Given the description of an element on the screen output the (x, y) to click on. 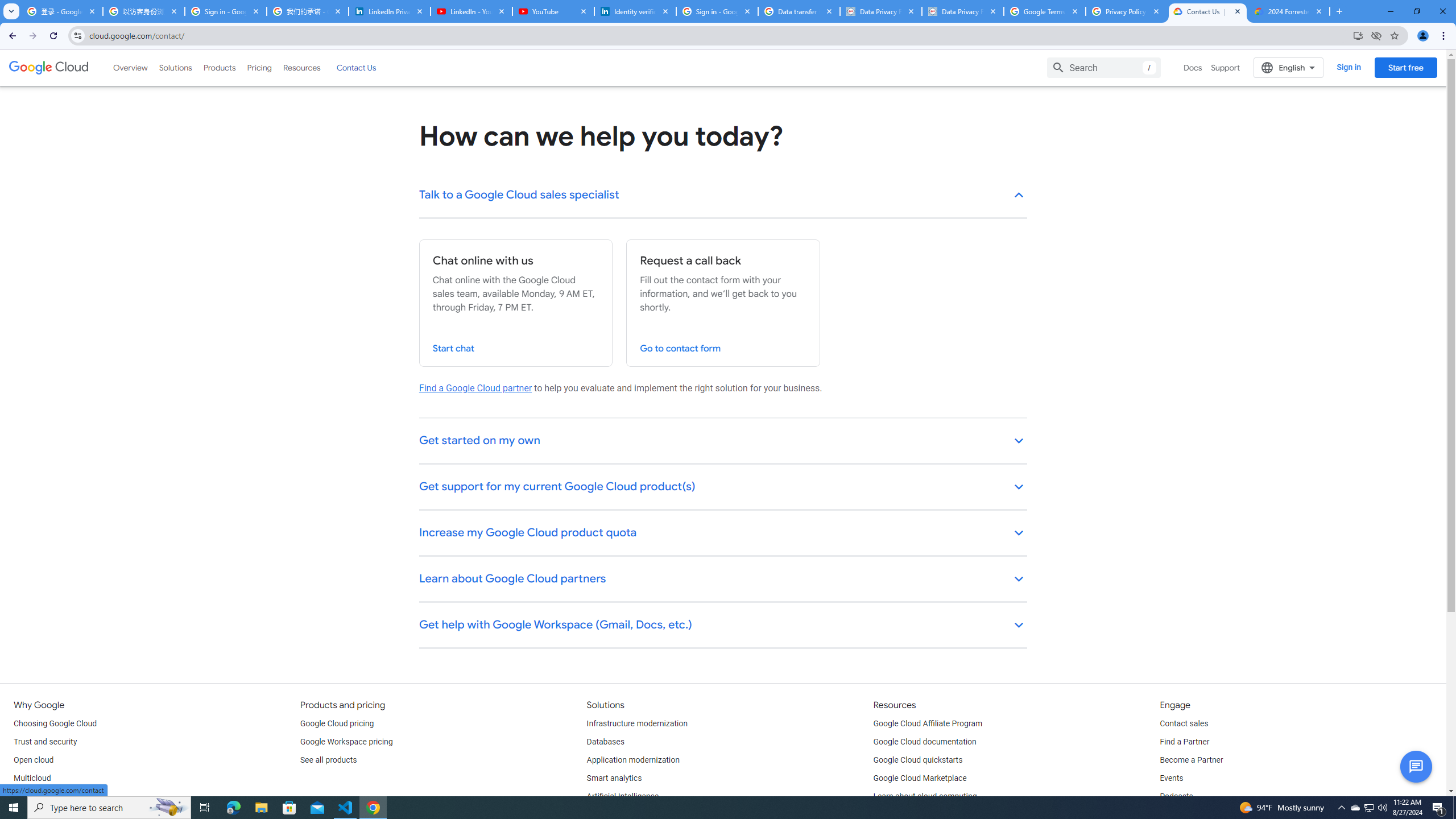
Infrastructure modernization (637, 723)
Trust and security (45, 742)
Start free (1405, 67)
YouTube (552, 11)
Multicloud (31, 778)
Google Cloud quickstarts (917, 760)
Learn about cloud computing (924, 796)
Google Workspace pricing (346, 742)
Data Privacy Framework (963, 11)
Increase my Google Cloud product quota keyboard_arrow_down (723, 533)
LinkedIn - YouTube (470, 11)
